Given the description of an element on the screen output the (x, y) to click on. 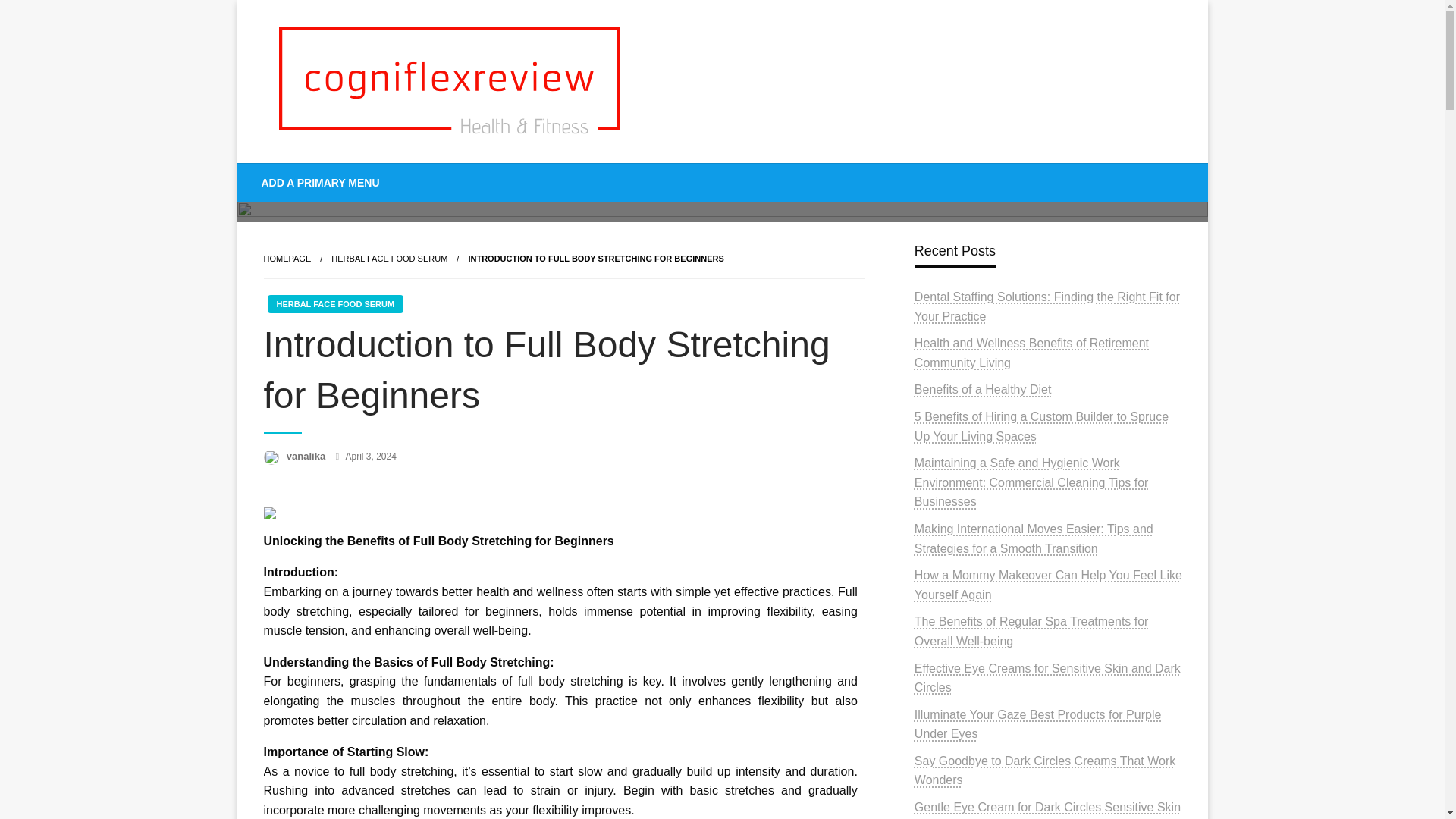
April 3, 2024 (371, 456)
Herbal Face Food Serum (388, 257)
HERBAL FACE FOOD SERUM (334, 303)
Homepage (287, 257)
cogniflexreview (366, 174)
HERBAL FACE FOOD SERUM (388, 257)
HOMEPAGE (287, 257)
ADD A PRIMARY MENU (320, 182)
Introduction to Full Body Stretching for Beginners (595, 257)
vanalika (307, 455)
